Given the description of an element on the screen output the (x, y) to click on. 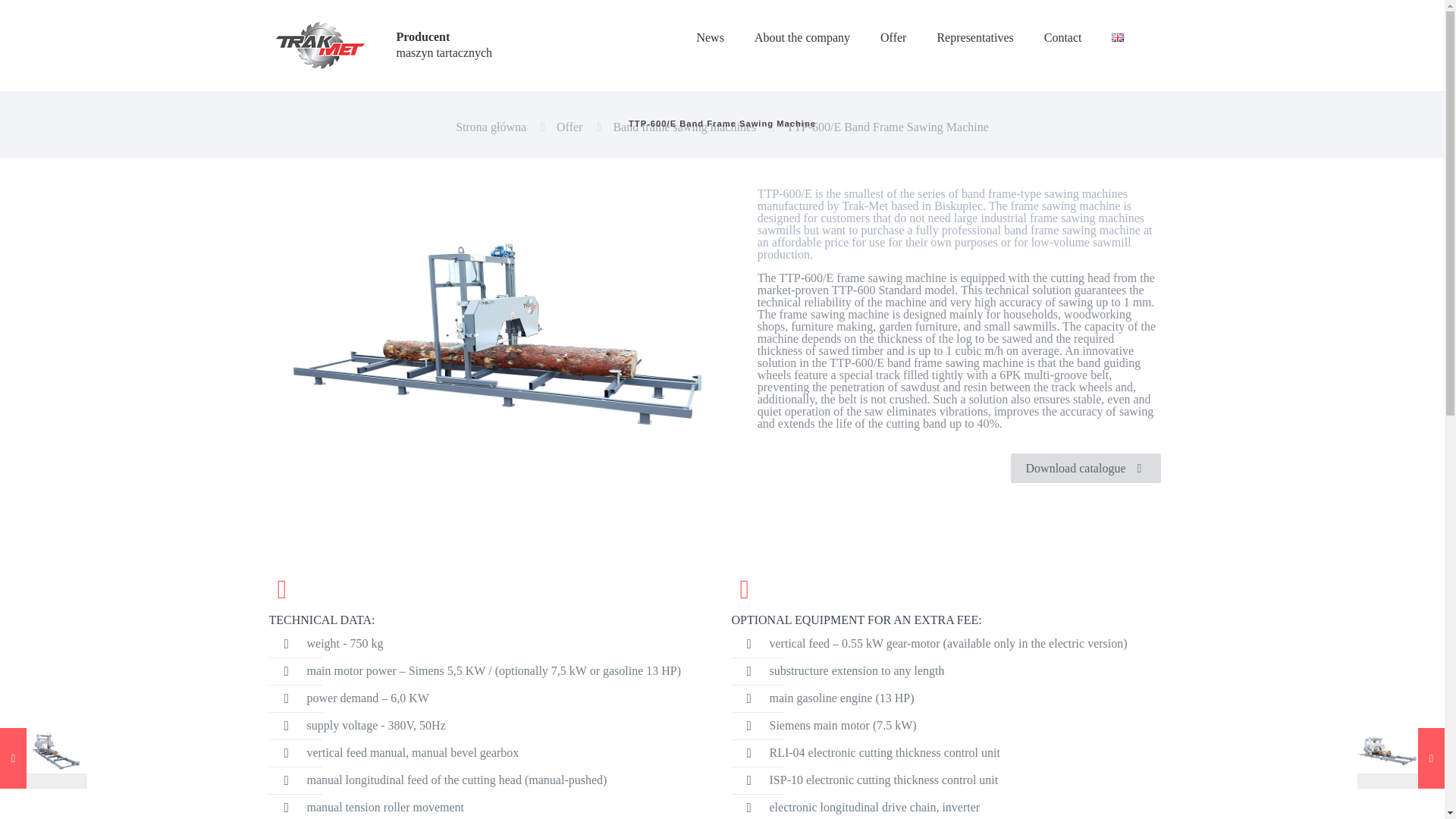
Band frame sawing machines (683, 126)
About the company (801, 38)
Representatives (974, 38)
Offer (569, 126)
Contact (1063, 38)
Download catalogue (1085, 468)
